Given the description of an element on the screen output the (x, y) to click on. 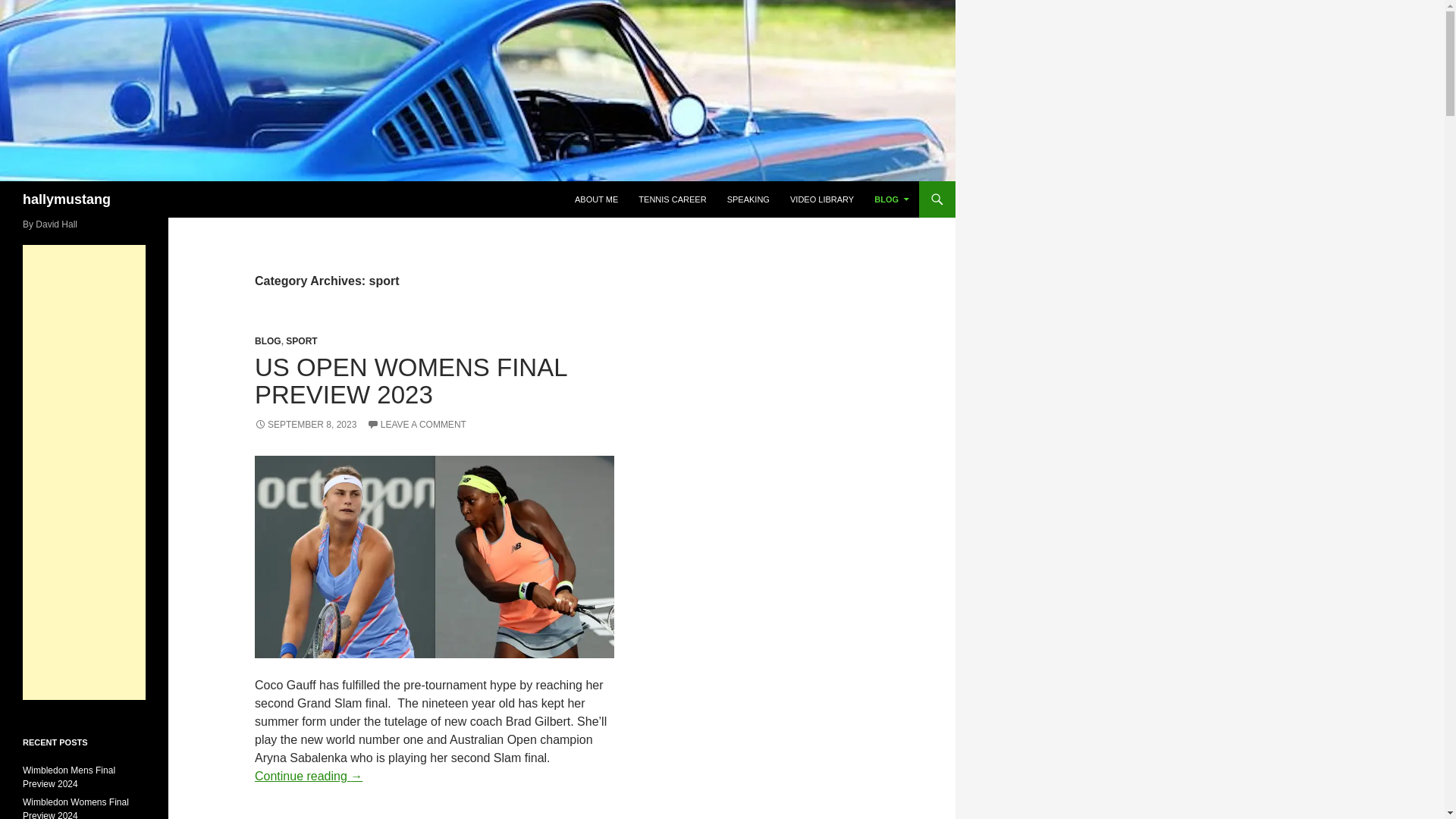
SPEAKING (747, 198)
SPORT (301, 340)
BLOG (267, 340)
BLOG (891, 198)
US OPEN WOMENS FINAL PREVIEW 2023 (410, 380)
LEAVE A COMMENT (415, 424)
hallymustang (66, 198)
ABOUT ME (596, 198)
SEPTEMBER 8, 2023 (305, 424)
